Given the description of an element on the screen output the (x, y) to click on. 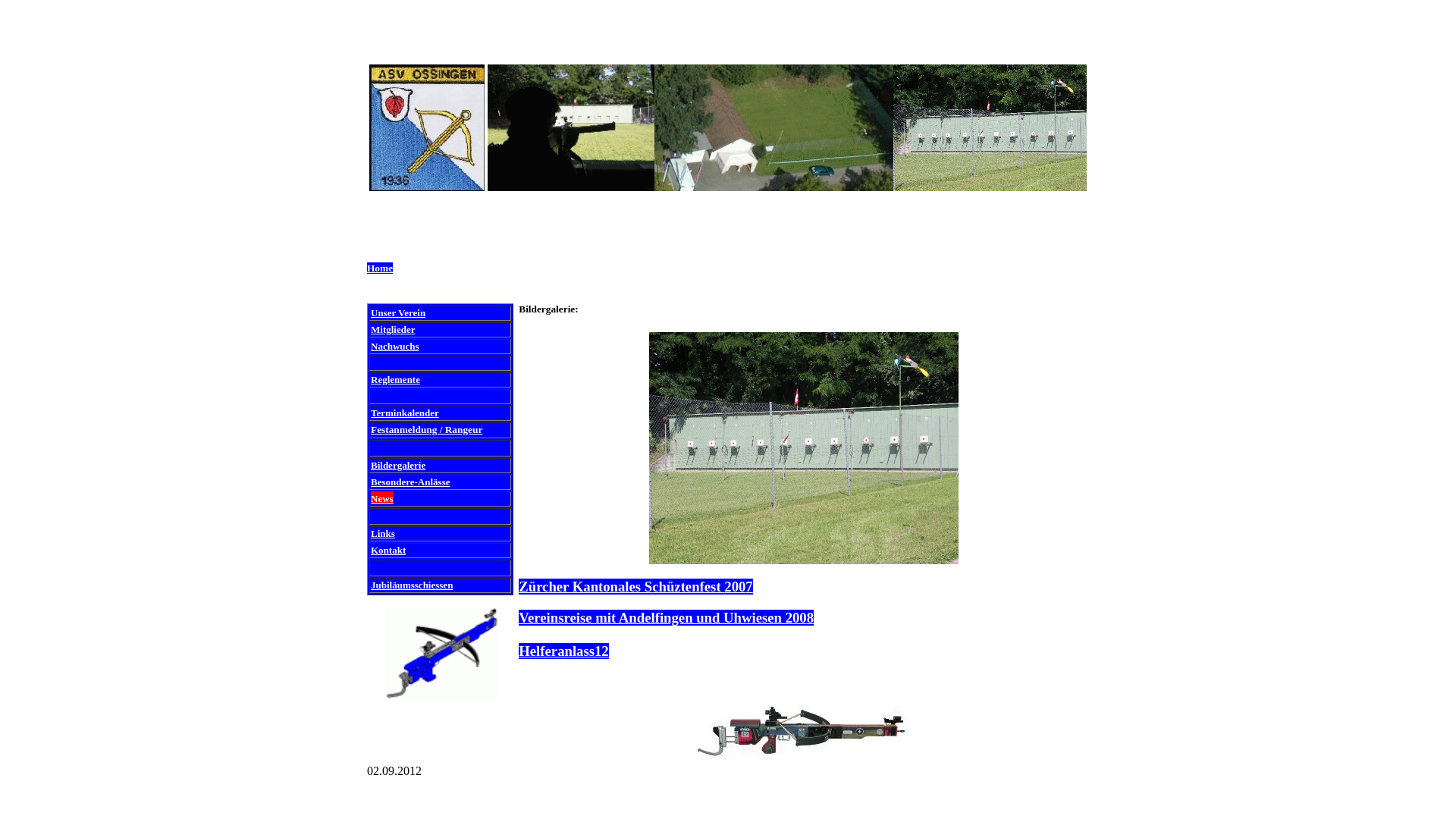
Terminkalender Element type: text (404, 412)
Kontakt Element type: text (387, 549)
8 Element type: text (953, 625)
Reglemente Element type: text (395, 379)
News Element type: text (381, 498)
Links Element type: text (382, 533)
Vereinsreise mit Andelfingen und Uhwiesen 200 Element type: text (662, 617)
Helferanlass12 Element type: text (563, 650)
Unser Verein Element type: text (397, 312)
Festanmeldung / Rangeur Element type: text (426, 429)
Bildergalerie Element type: text (397, 464)
Nachwuchs Element type: text (394, 345)
Mitglieder Element type: text (392, 329)
Home Element type: text (379, 267)
